Given the description of an element on the screen output the (x, y) to click on. 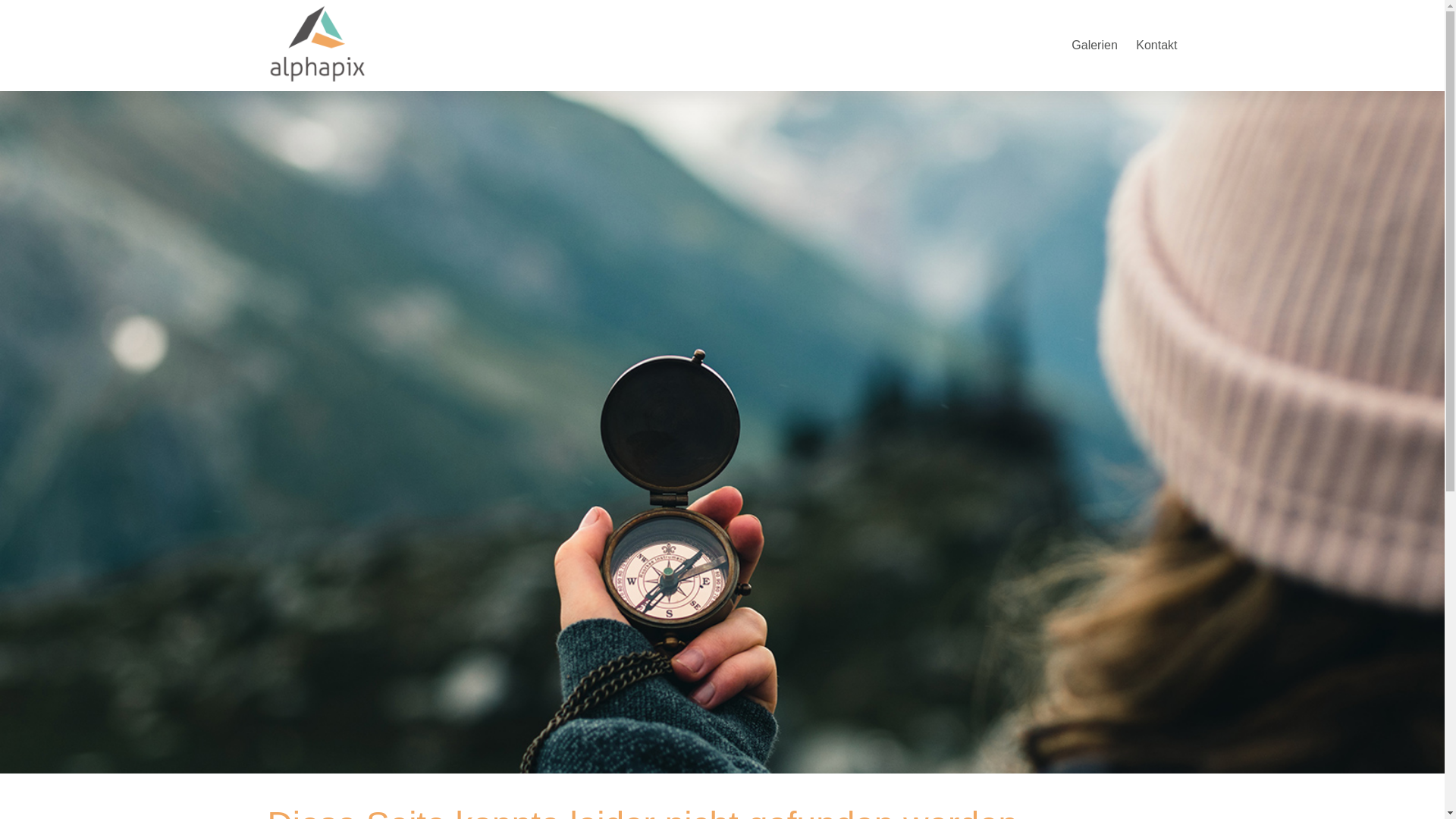
Home Element type: hover (315, 81)
Kontakt Element type: text (1155, 44)
Galerien Element type: text (1094, 44)
Home Element type: hover (315, 42)
